Given the description of an element on the screen output the (x, y) to click on. 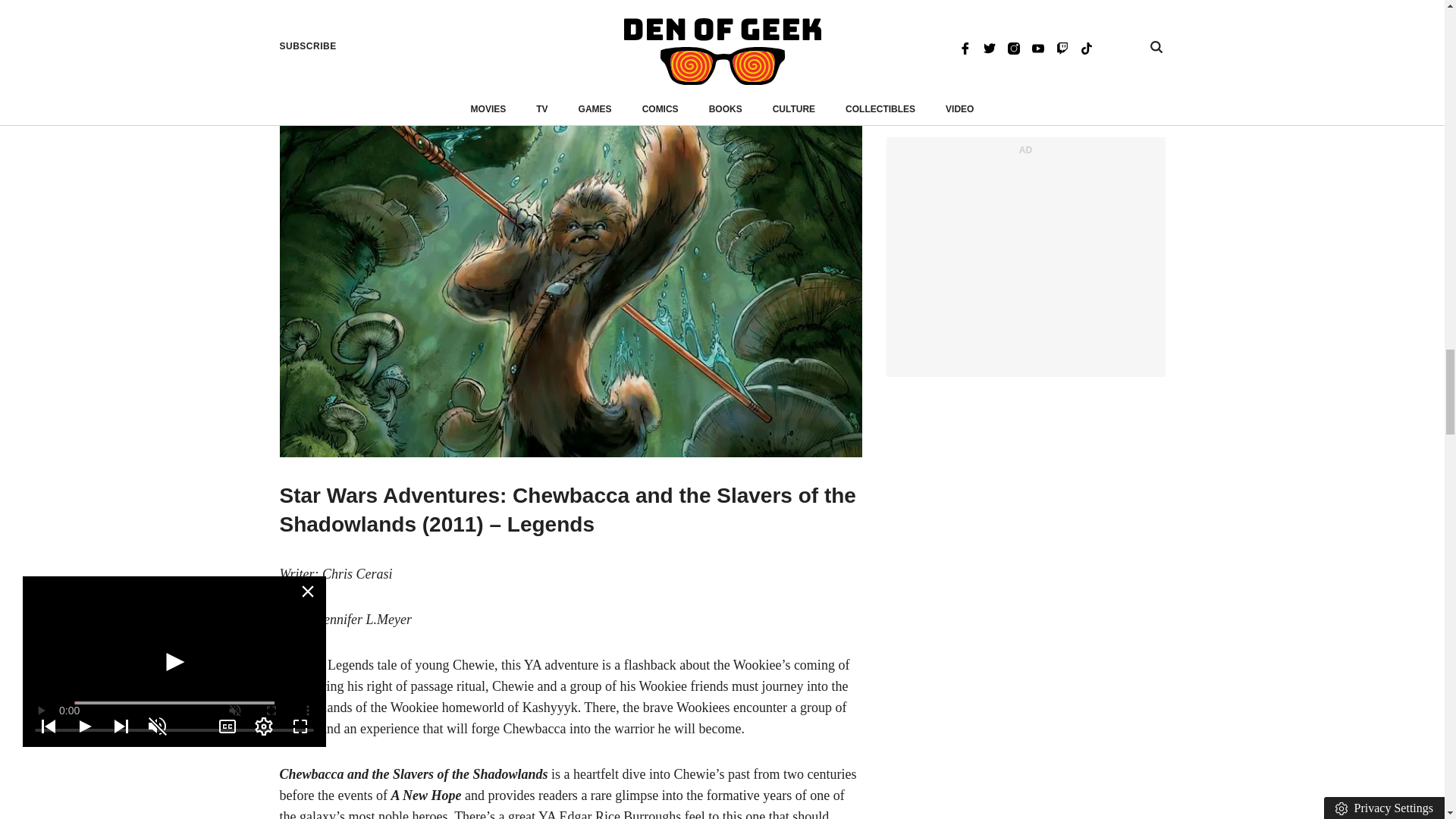
Buy Star Wars: Chewbacca (396, 65)
